Given the description of an element on the screen output the (x, y) to click on. 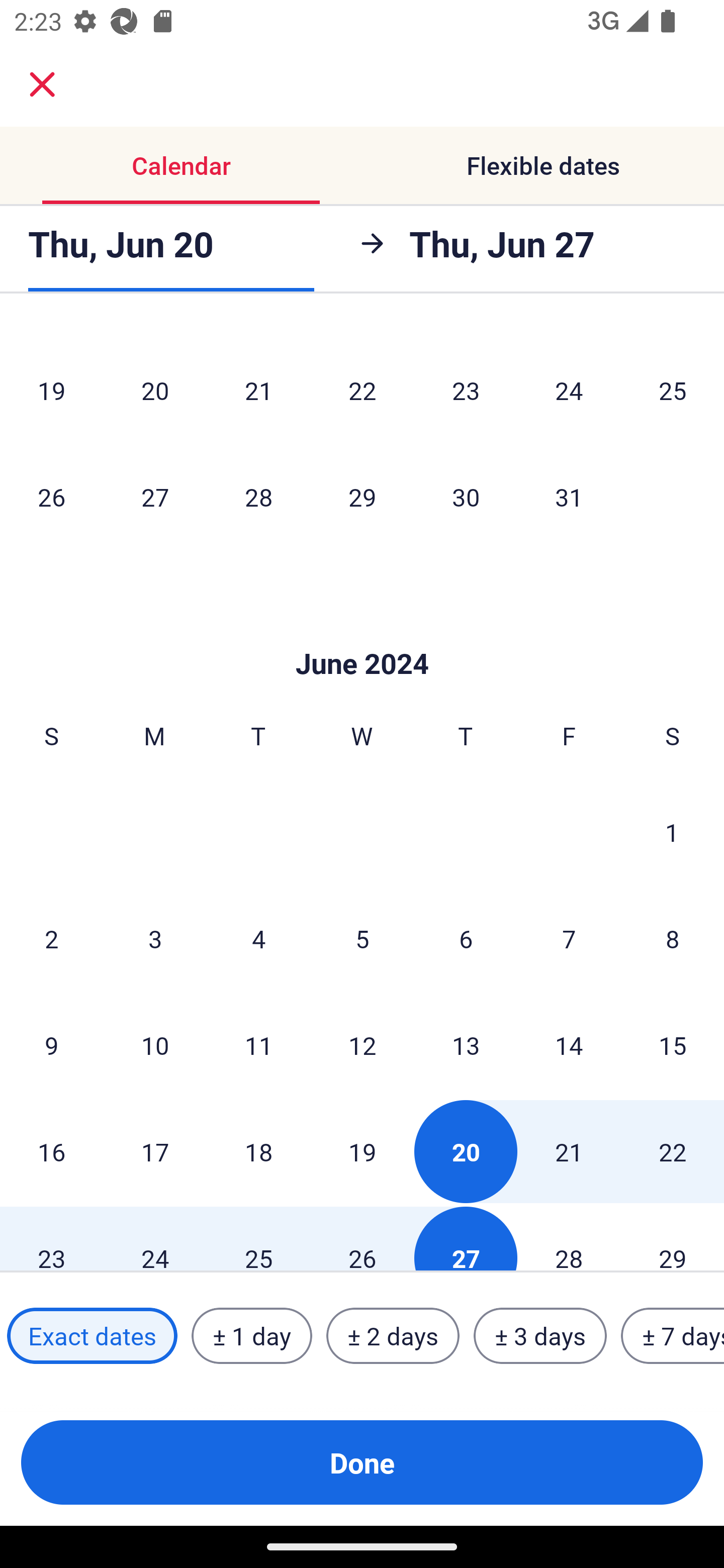
close. (42, 84)
Flexible dates (542, 164)
19 Sunday, May 19, 2024 (51, 390)
20 Monday, May 20, 2024 (155, 390)
21 Tuesday, May 21, 2024 (258, 390)
22 Wednesday, May 22, 2024 (362, 390)
23 Thursday, May 23, 2024 (465, 390)
24 Friday, May 24, 2024 (569, 390)
25 Saturday, May 25, 2024 (672, 390)
26 Sunday, May 26, 2024 (51, 496)
27 Monday, May 27, 2024 (155, 496)
28 Tuesday, May 28, 2024 (258, 496)
29 Wednesday, May 29, 2024 (362, 496)
30 Thursday, May 30, 2024 (465, 496)
31 Friday, May 31, 2024 (569, 496)
Skip to Done (362, 633)
1 Saturday, June 1, 2024 (672, 831)
2 Sunday, June 2, 2024 (51, 938)
3 Monday, June 3, 2024 (155, 938)
4 Tuesday, June 4, 2024 (258, 938)
5 Wednesday, June 5, 2024 (362, 938)
6 Thursday, June 6, 2024 (465, 938)
7 Friday, June 7, 2024 (569, 938)
8 Saturday, June 8, 2024 (672, 938)
9 Sunday, June 9, 2024 (51, 1045)
10 Monday, June 10, 2024 (155, 1045)
11 Tuesday, June 11, 2024 (258, 1045)
12 Wednesday, June 12, 2024 (362, 1045)
13 Thursday, June 13, 2024 (465, 1045)
14 Friday, June 14, 2024 (569, 1045)
15 Saturday, June 15, 2024 (672, 1045)
16 Sunday, June 16, 2024 (51, 1151)
17 Monday, June 17, 2024 (155, 1151)
18 Tuesday, June 18, 2024 (258, 1151)
19 Wednesday, June 19, 2024 (362, 1151)
28 Friday, June 28, 2024 (569, 1238)
29 Saturday, June 29, 2024 (672, 1238)
Exact dates (92, 1335)
± 1 day (251, 1335)
± 2 days (392, 1335)
± 3 days (539, 1335)
± 7 days (672, 1335)
Done (361, 1462)
